Given the description of an element on the screen output the (x, y) to click on. 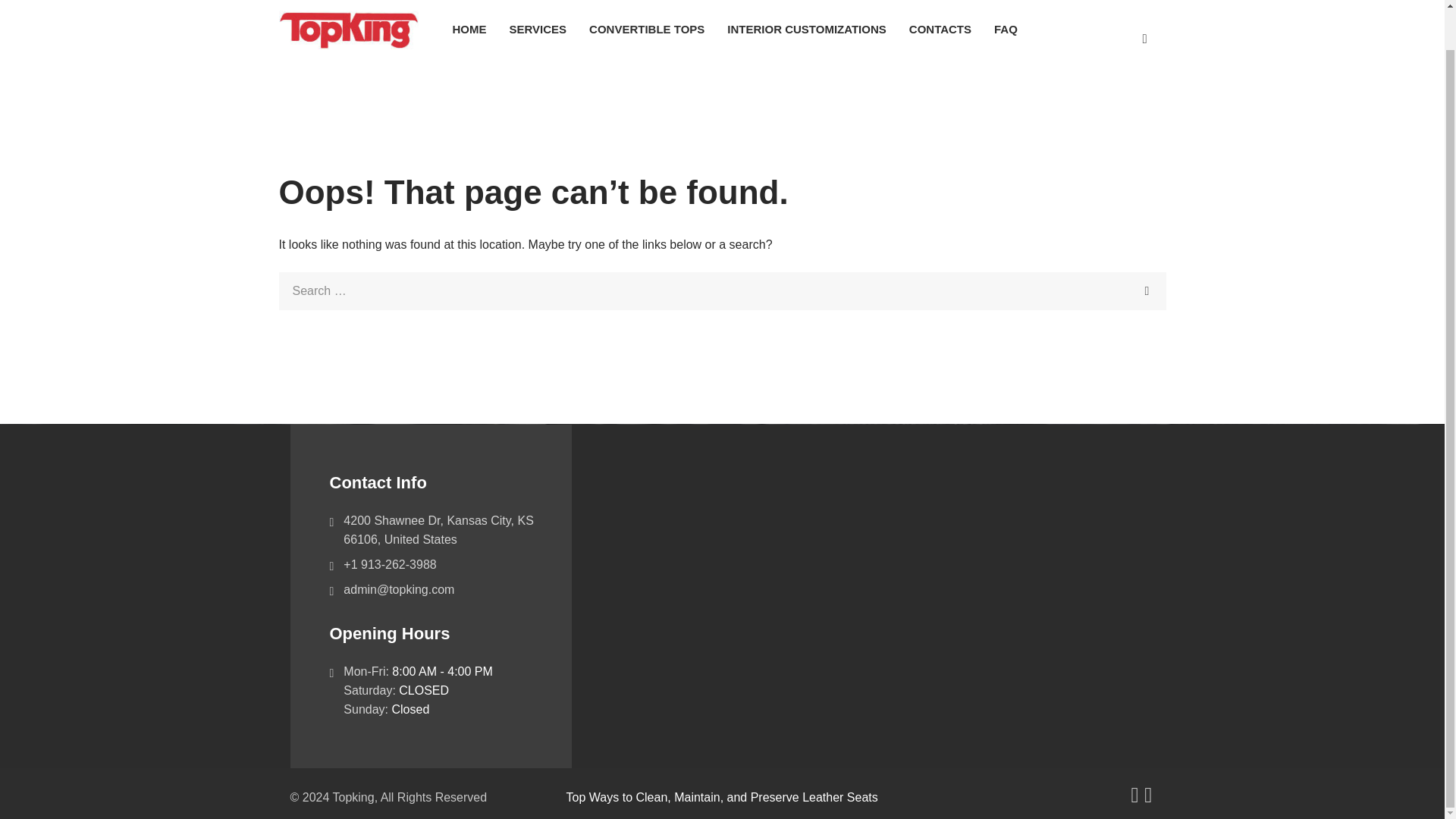
CONVERTIBLE TOPS (647, 28)
SERVICES (537, 28)
INTERIOR CUSTOMIZATIONS (806, 28)
HOME (469, 28)
CONTACTS (940, 28)
FAQ (1005, 28)
